Given the description of an element on the screen output the (x, y) to click on. 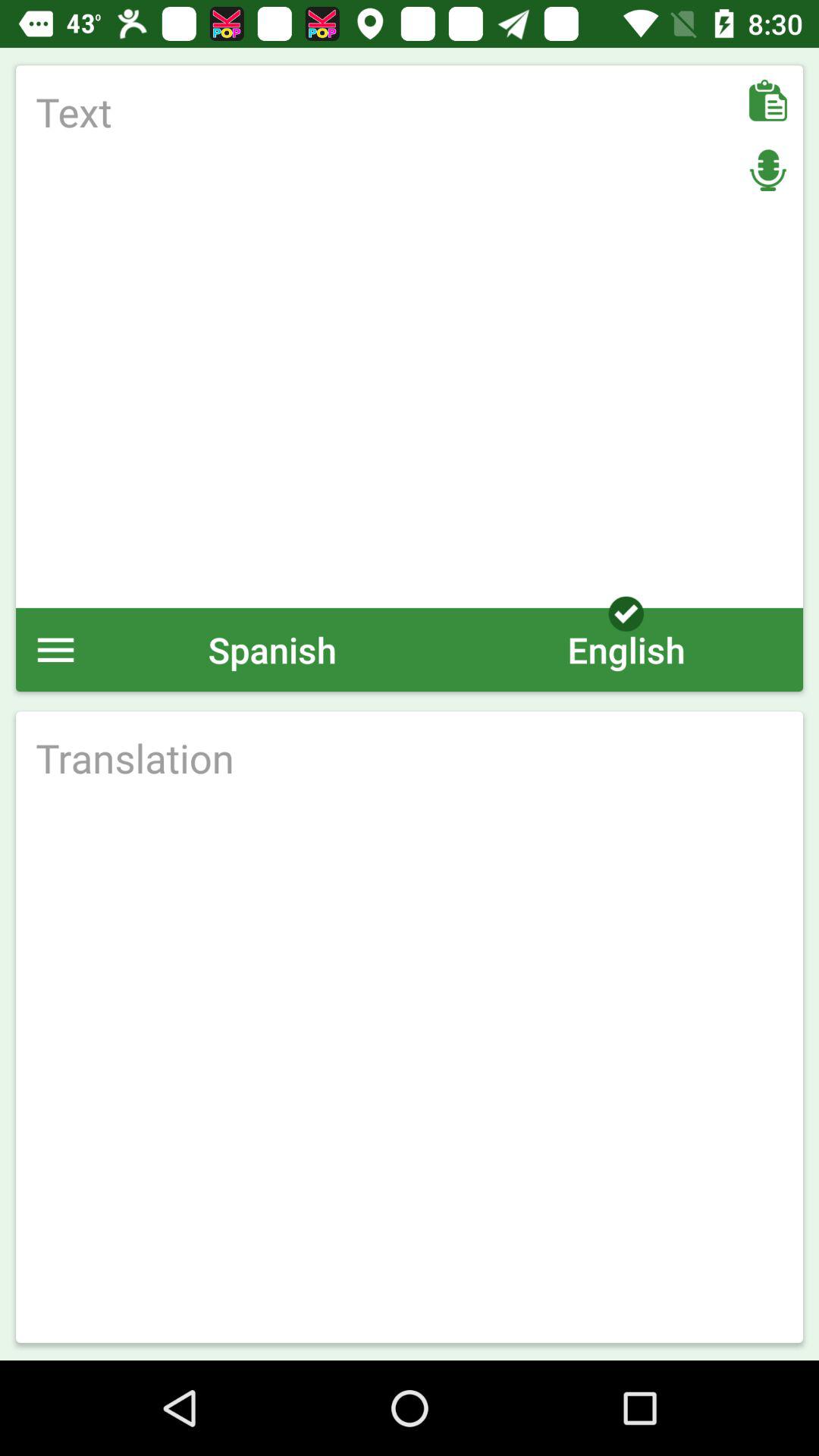
audio button (768, 170)
